Given the description of an element on the screen output the (x, y) to click on. 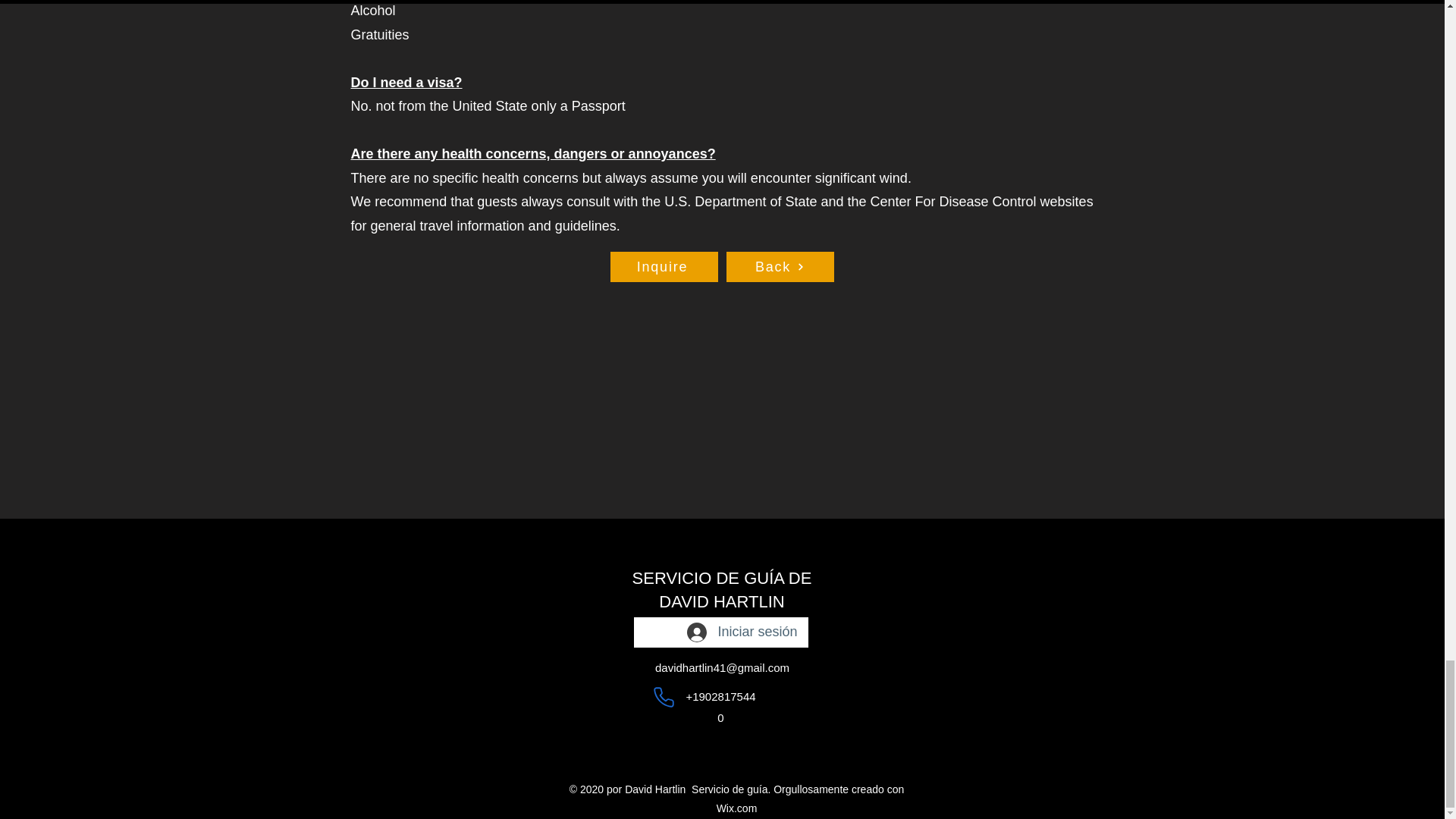
Back (780, 266)
Inquire (663, 266)
